Given the description of an element on the screen output the (x, y) to click on. 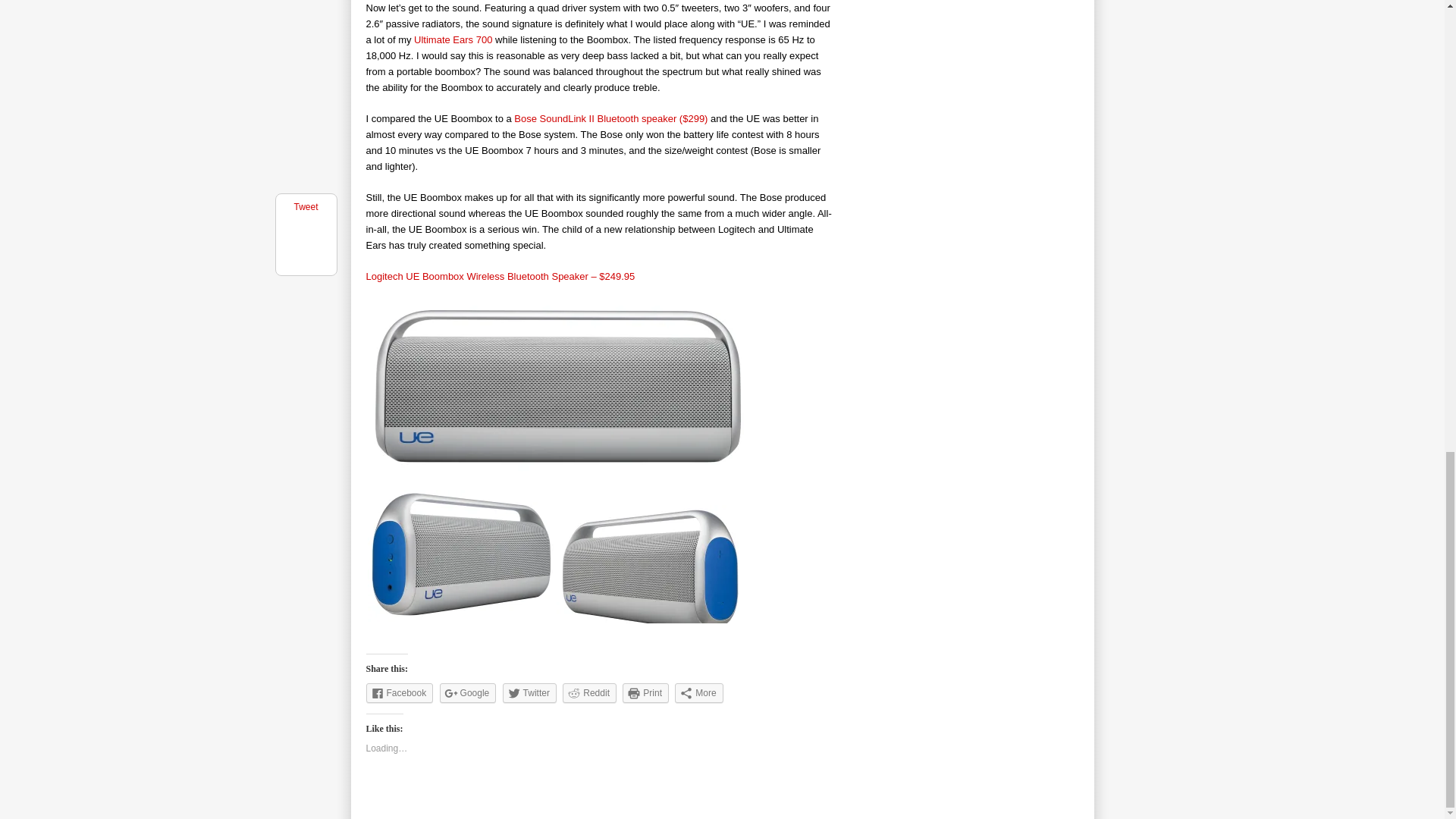
Logitech UE Boombox Right Front (650, 571)
Ultimate Ears 700 (452, 39)
Click to share on Twitter (529, 692)
Click to share on Reddit (588, 692)
Click to print (645, 692)
Logitech UE Boombox Front Left (459, 555)
Logitech UE Boombox Front (554, 386)
Facebook (398, 692)
Click to share on Facebook (398, 692)
